Given the description of an element on the screen output the (x, y) to click on. 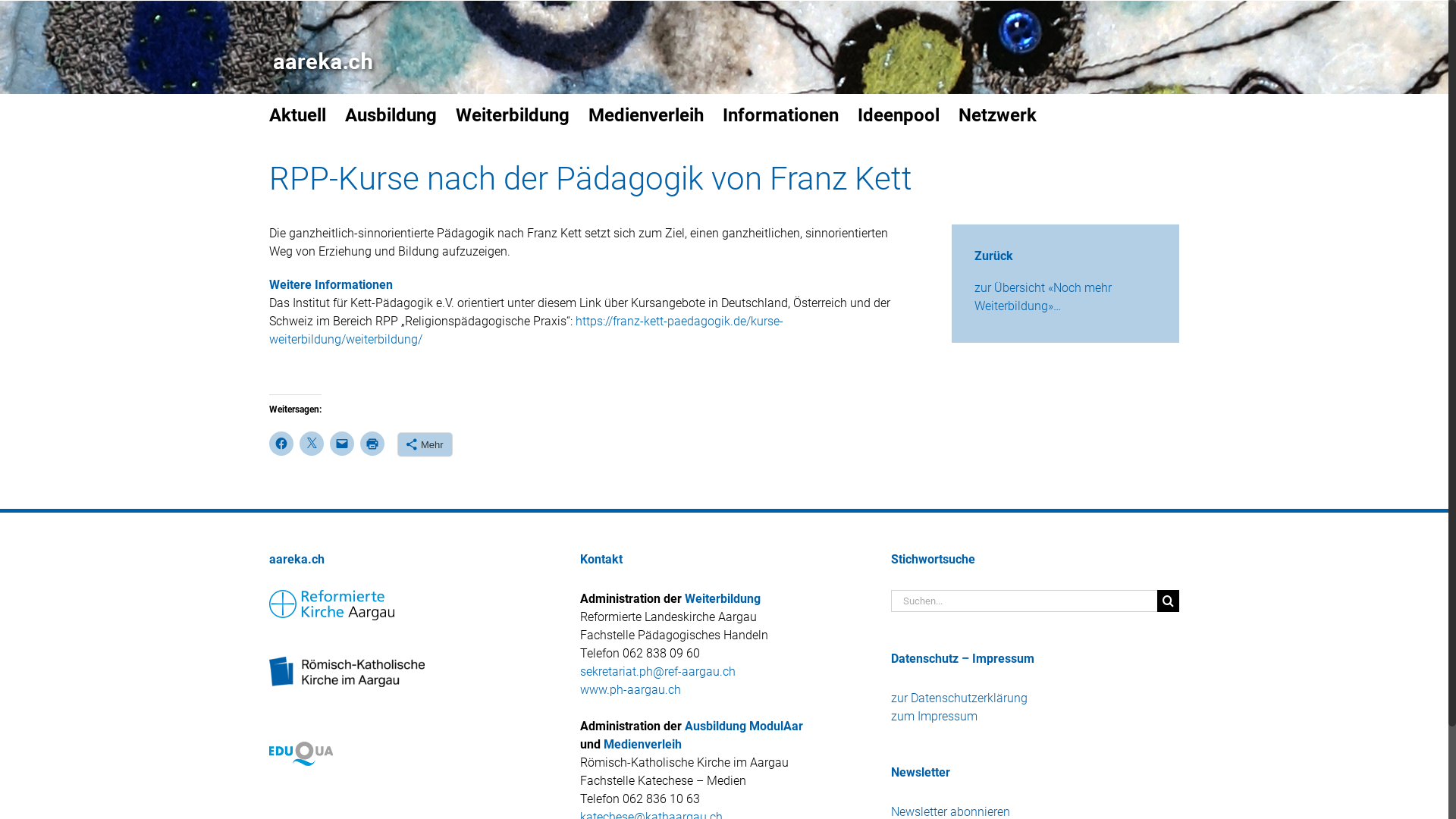
www.ph-aargau.ch Element type: text (630, 689)
Ausbildung ModulAar Element type: text (743, 725)
Medienverleih Element type: text (645, 113)
Ausbildung Element type: text (390, 113)
sekretariat.ph@ref-aargau.ch Element type: text (657, 671)
Mehr Element type: text (424, 444)
Aktuell Element type: text (297, 113)
Weiterbildung Element type: text (512, 113)
Informationen Element type: text (780, 113)
Ideenpool Element type: text (898, 113)
Weiterbildung Element type: text (722, 598)
zum Impressum Element type: text (934, 716)
Netzwerk Element type: text (997, 113)
Medienverleih Element type: text (642, 744)
